Given the description of an element on the screen output the (x, y) to click on. 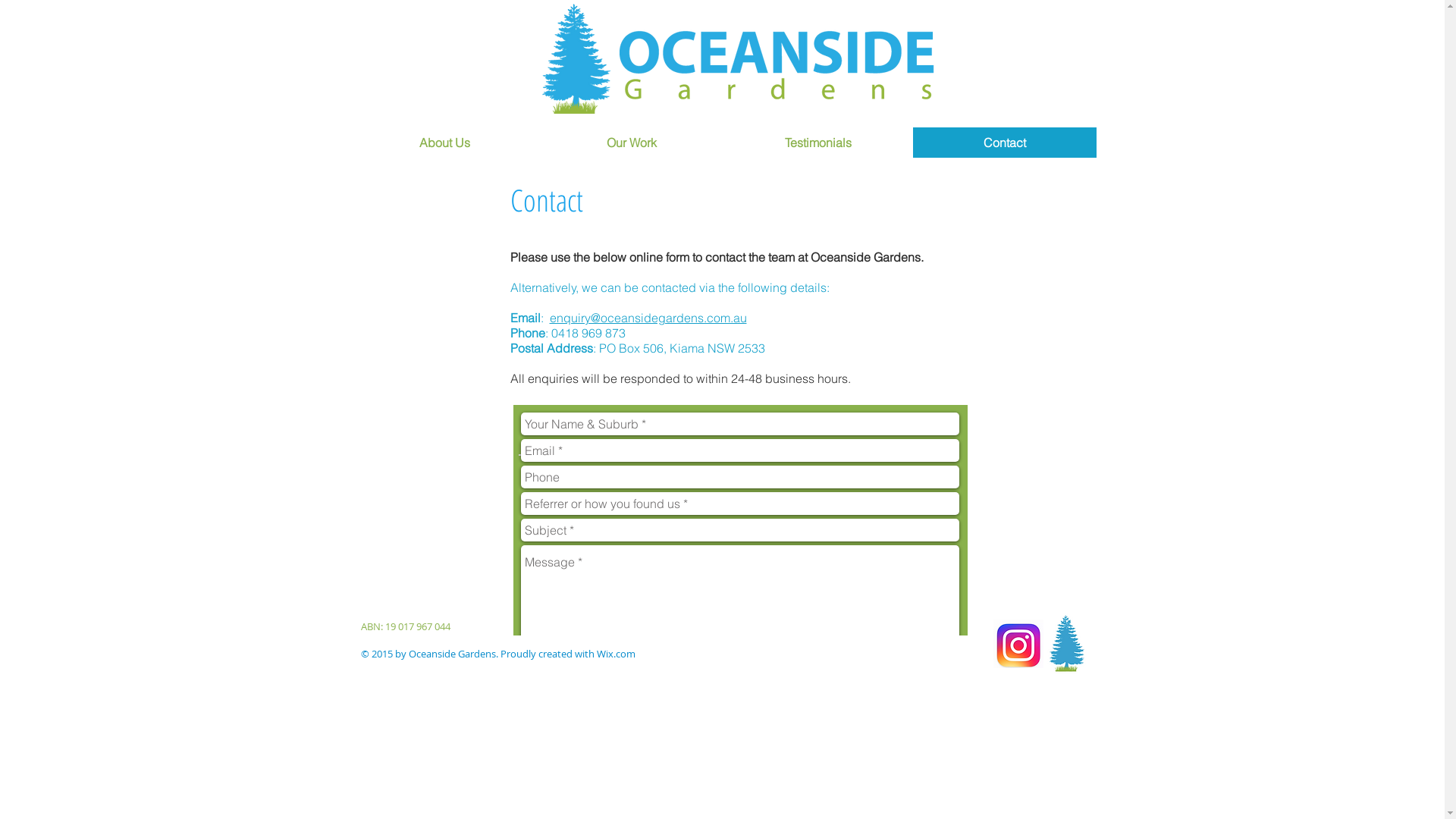
Our Work Element type: text (631, 142)
OGtree Element type: hover (1066, 643)
About Us Element type: text (444, 142)
enquiry@oceansidegardens.com.au Element type: text (647, 317)
Wix.com Element type: text (615, 653)
Send Element type: text (940, 660)
Testimonials Element type: text (818, 142)
Contact Element type: text (1004, 142)
